Given the description of an element on the screen output the (x, y) to click on. 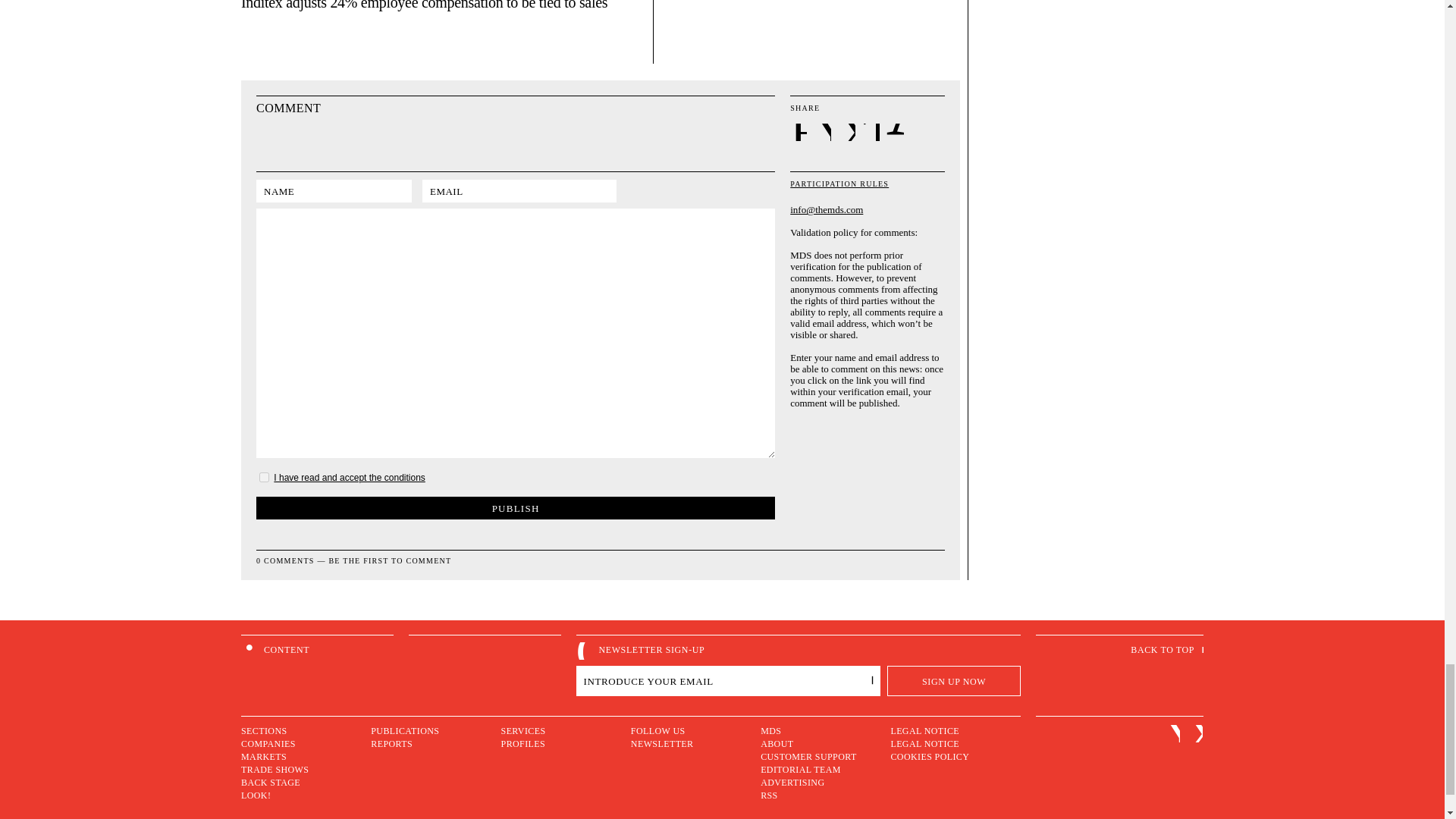
1 (264, 477)
Y (822, 132)
PUBLISH (515, 507)
X (847, 132)
E (799, 132)
I have read and accept the conditions (349, 477)
A (895, 131)
T (872, 132)
